Given the description of an element on the screen output the (x, y) to click on. 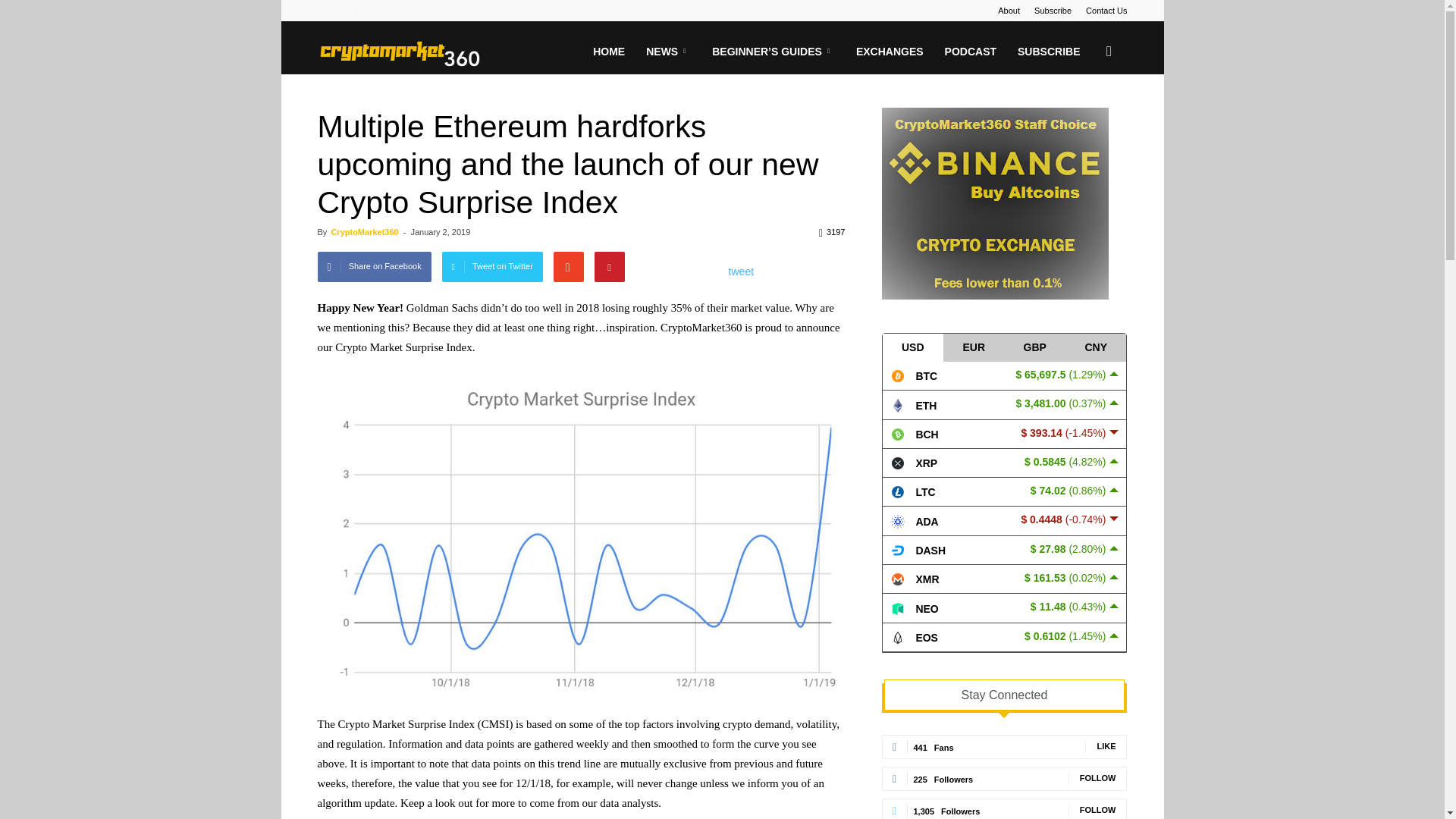
About (1008, 10)
Twitter (379, 10)
HOME (608, 51)
Facebook (328, 10)
Instagram (353, 10)
CryptoMarket360 (399, 51)
NEWS (667, 51)
Subscribe (1052, 10)
Contact Us (1106, 10)
Search (1085, 124)
